Given the description of an element on the screen output the (x, y) to click on. 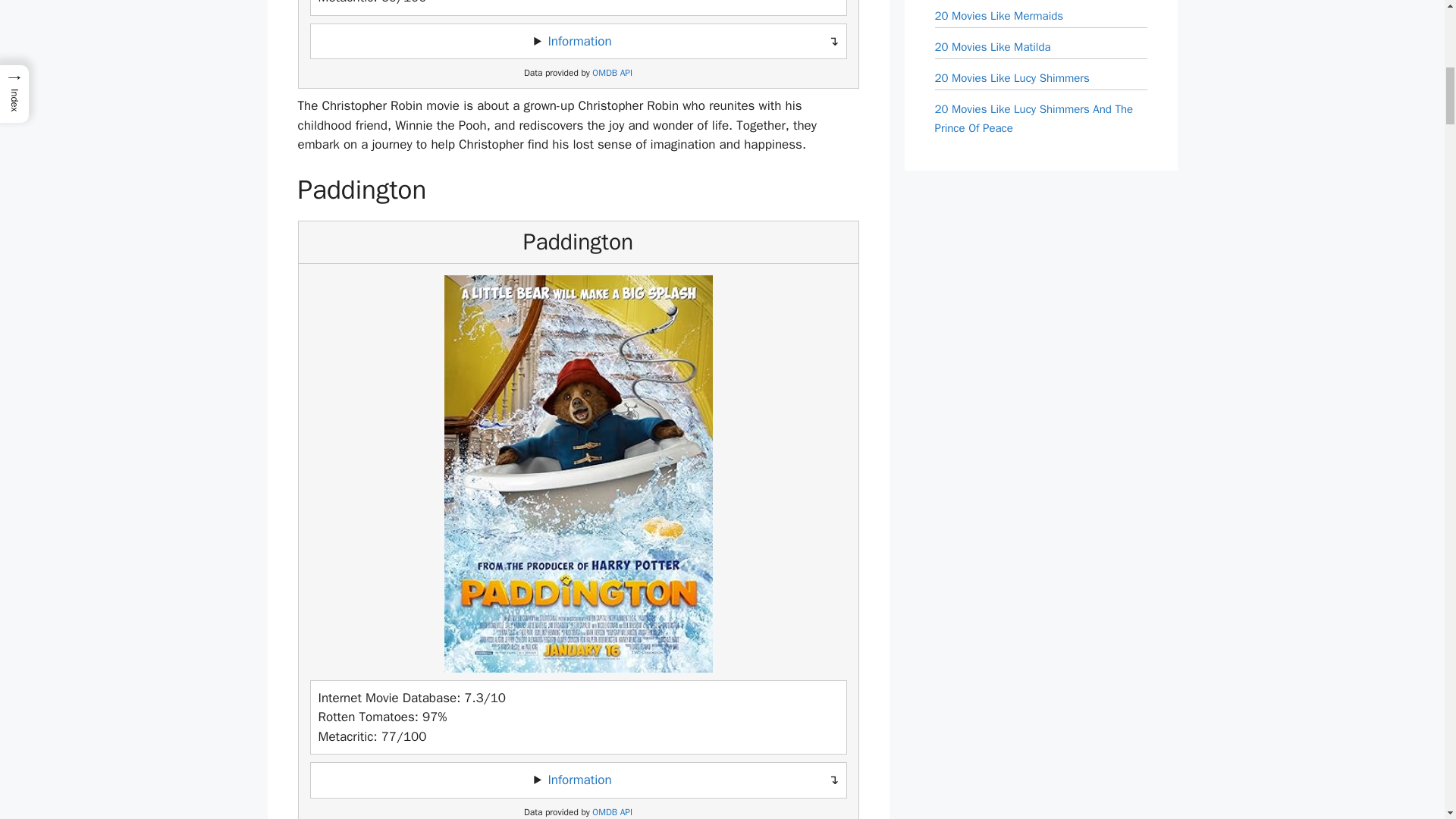
Open Movie Database API (611, 72)
OMDB API (611, 72)
Toggle information (578, 41)
Open Movie Database API (611, 812)
Information (579, 41)
OMDB API (611, 812)
Toggle information (578, 779)
Information (579, 779)
